Given the description of an element on the screen output the (x, y) to click on. 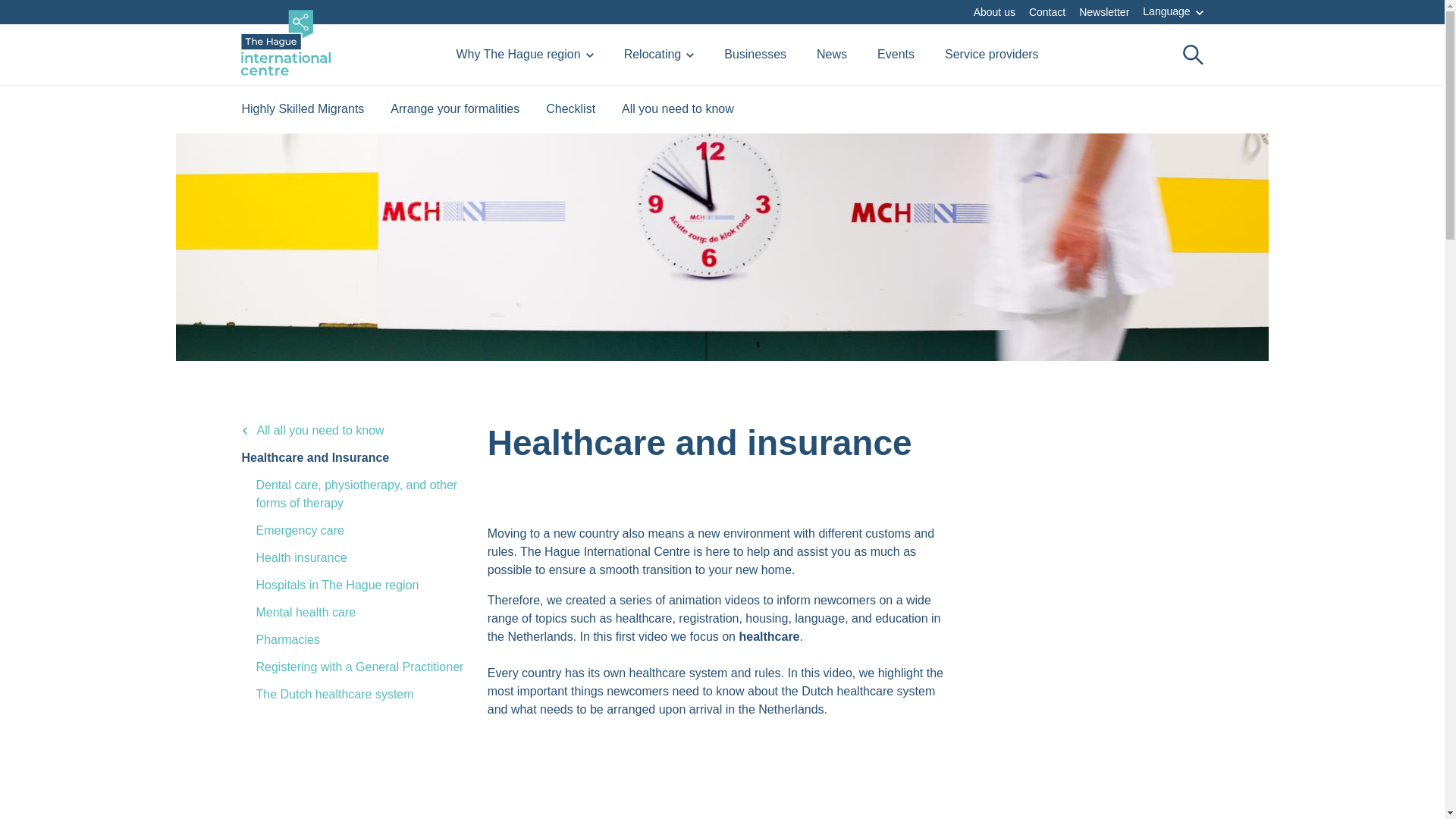
Newsletter (1103, 11)
Contact (1047, 11)
Businesses (754, 54)
About us (994, 11)
Relocating (659, 54)
Why The Hague region (523, 54)
Healthcare in the Netherlands (722, 778)
